Given the description of an element on the screen output the (x, y) to click on. 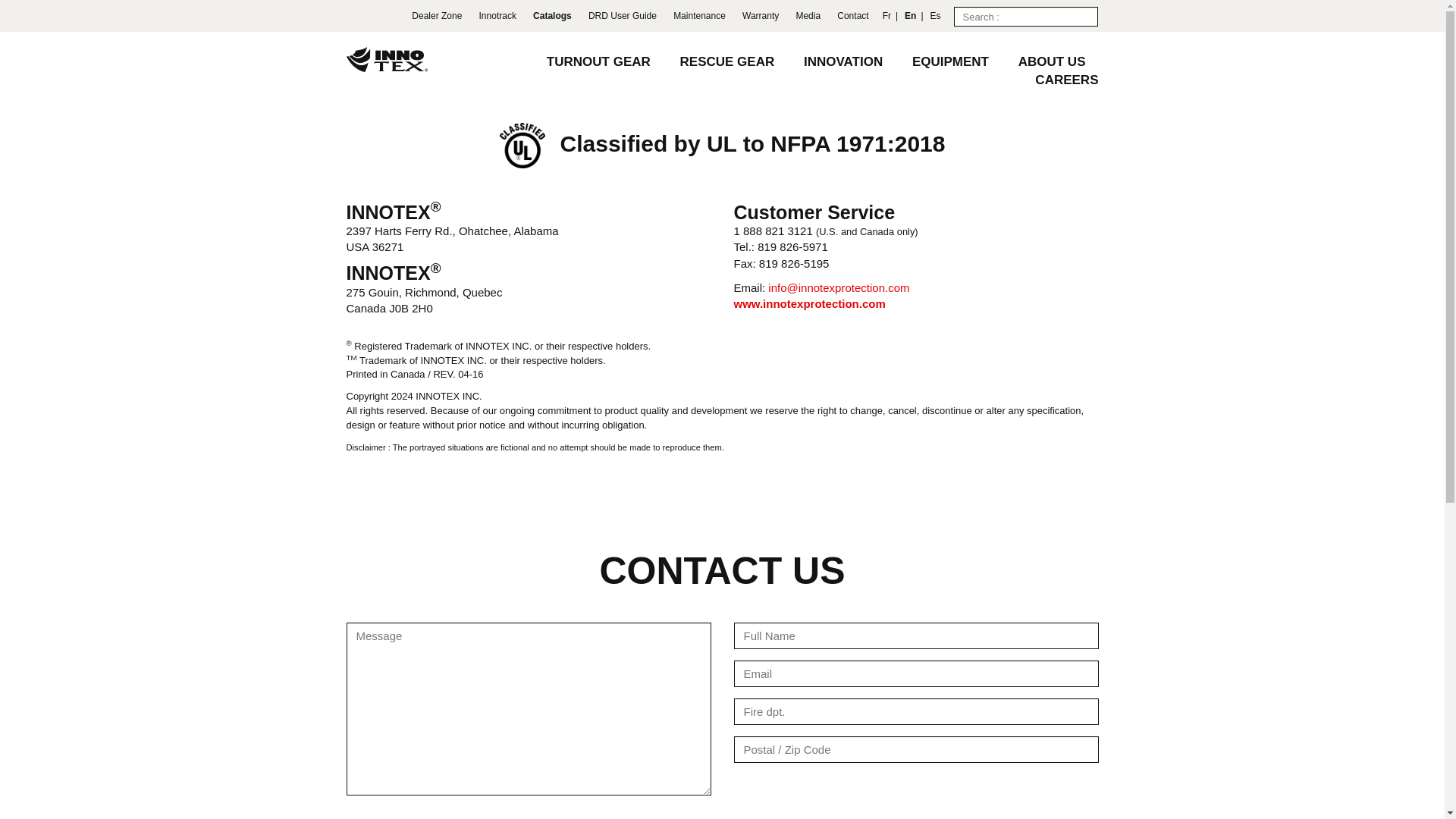
CAREERS (1066, 79)
Innotrack (497, 15)
Warranty (760, 15)
Contact (852, 15)
Es (935, 15)
RESCUE GEAR (726, 61)
Catalogs (552, 15)
ABOUT US (1051, 61)
Dealer Zone (436, 15)
INNOVATION (842, 61)
Maintenance (698, 15)
En (909, 15)
EQUIPMENT (950, 61)
Media (807, 15)
TURNOUT GEAR (598, 61)
